Given the description of an element on the screen output the (x, y) to click on. 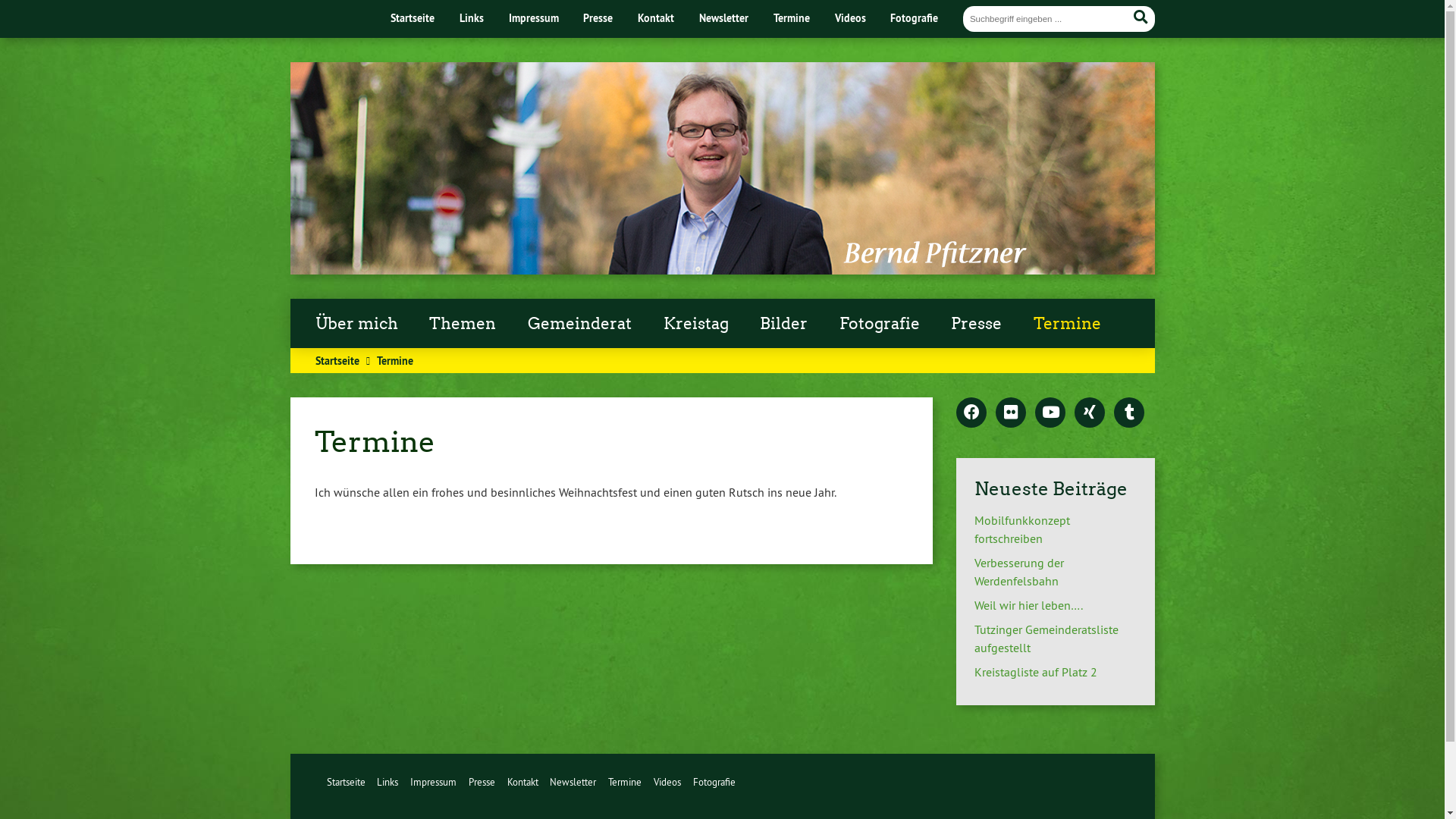
Links Element type: text (471, 17)
Newsletter Element type: text (572, 781)
Fotografie Element type: text (714, 781)
Presse Element type: text (597, 17)
Flickr Element type: hover (1010, 412)
Videos Element type: text (666, 781)
Bilder Element type: text (783, 323)
Videos Element type: text (850, 17)
Termine Element type: text (791, 17)
Fotografie Element type: text (879, 323)
Termine Element type: text (624, 781)
Verbesserung der Werdenfelsbahn Element type: text (1018, 571)
Presse Element type: text (481, 781)
Tumblr Element type: hover (1128, 412)
Fotografie Element type: text (914, 17)
Kreistag Element type: text (695, 323)
Tutzinger Gemeinderatsliste aufgestellt Element type: text (1046, 638)
Kontakt Element type: text (522, 781)
Newsletter Element type: text (723, 17)
Gemeinderat Element type: text (579, 323)
Impressum Element type: text (433, 781)
Themen Element type: text (463, 323)
Startseite Element type: text (345, 781)
Links Element type: text (387, 781)
Mobilfunkkonzept fortschreiben Element type: text (1022, 529)
Facebook Element type: hover (971, 412)
Kontakt Element type: text (655, 17)
Startseite Element type: text (337, 360)
YouTube Element type: hover (1050, 412)
Kreistagliste auf Platz 2 Element type: text (1035, 671)
Startseite Element type: text (412, 17)
Impressum Element type: text (533, 17)
Termine Element type: text (1067, 323)
Xing Element type: hover (1089, 412)
Presse Element type: text (976, 323)
